Given the description of an element on the screen output the (x, y) to click on. 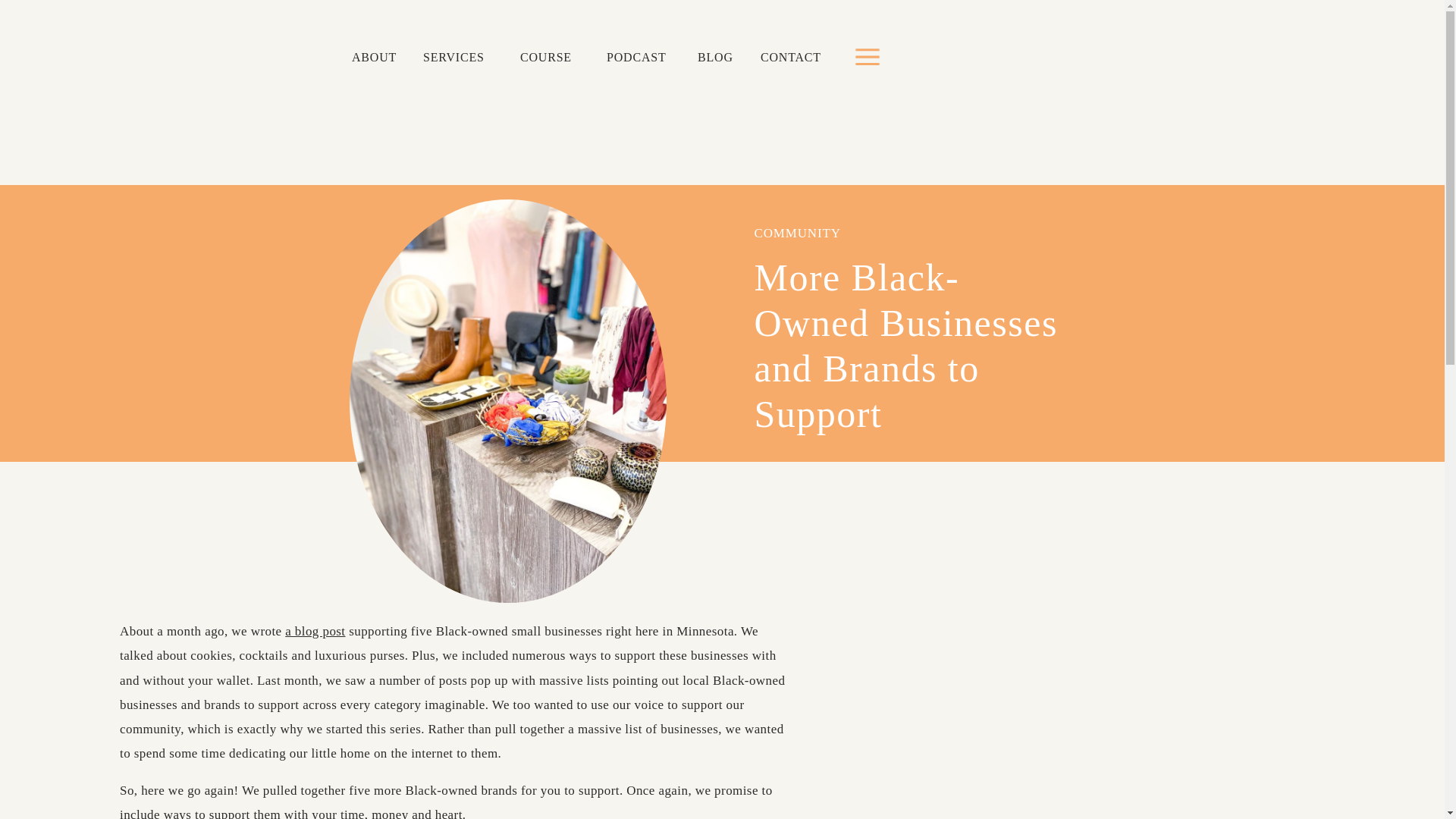
COMMUNITY (797, 233)
SERVICES (458, 58)
BLOG (716, 58)
ABOUT (376, 58)
COURSE (549, 58)
CONTACT (792, 58)
PODCAST (639, 58)
a blog post (315, 631)
